Given the description of an element on the screen output the (x, y) to click on. 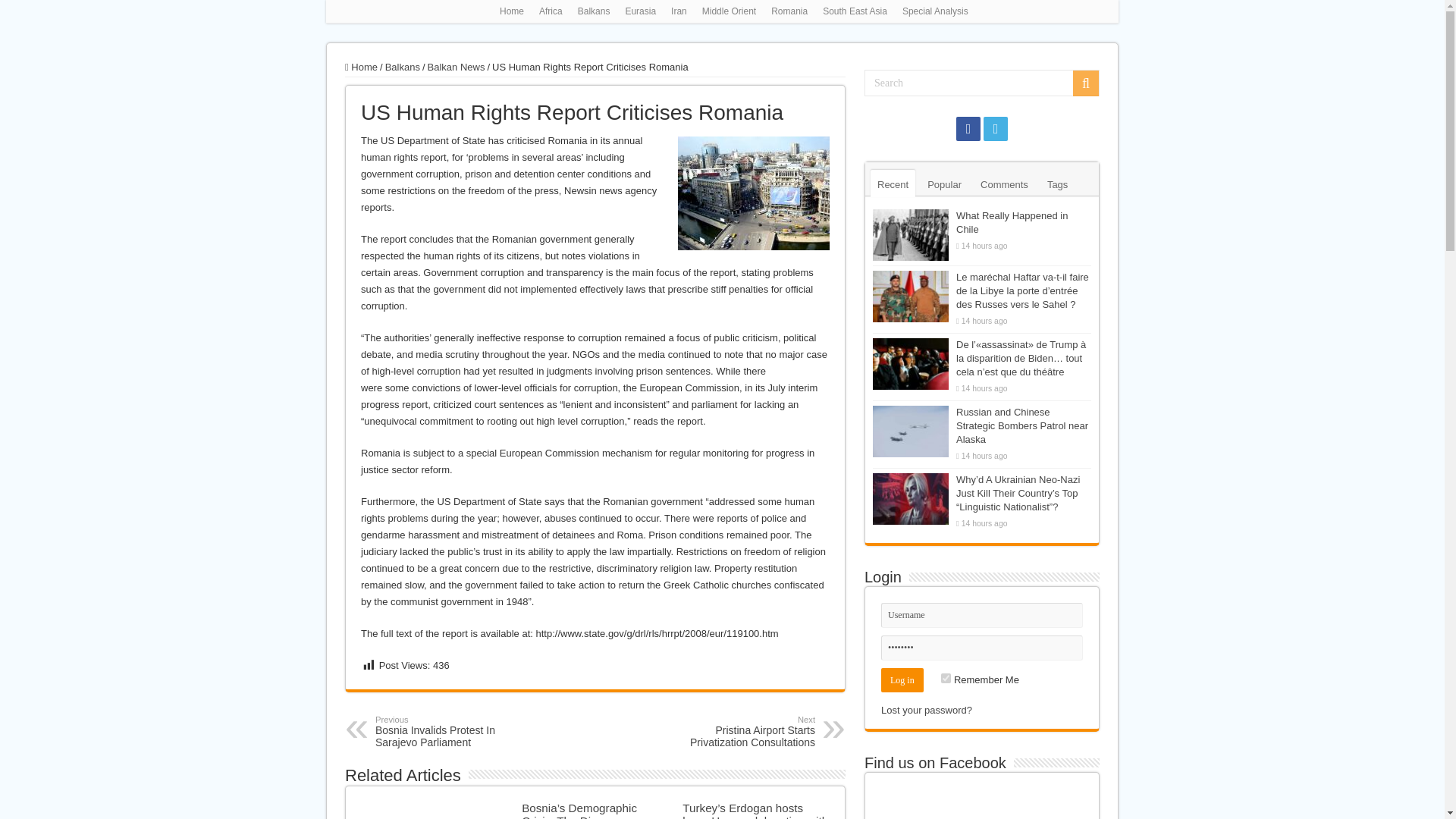
South East Asia (855, 11)
Popular (944, 183)
Log in (901, 680)
Comments (1004, 183)
Special Analysis (935, 11)
Username (981, 615)
Middle Orient (728, 11)
Recent (892, 183)
Balkan News (456, 66)
Home (511, 11)
Eurasia (640, 11)
Africa (550, 11)
Search (1086, 83)
Password (737, 731)
